Given the description of an element on the screen output the (x, y) to click on. 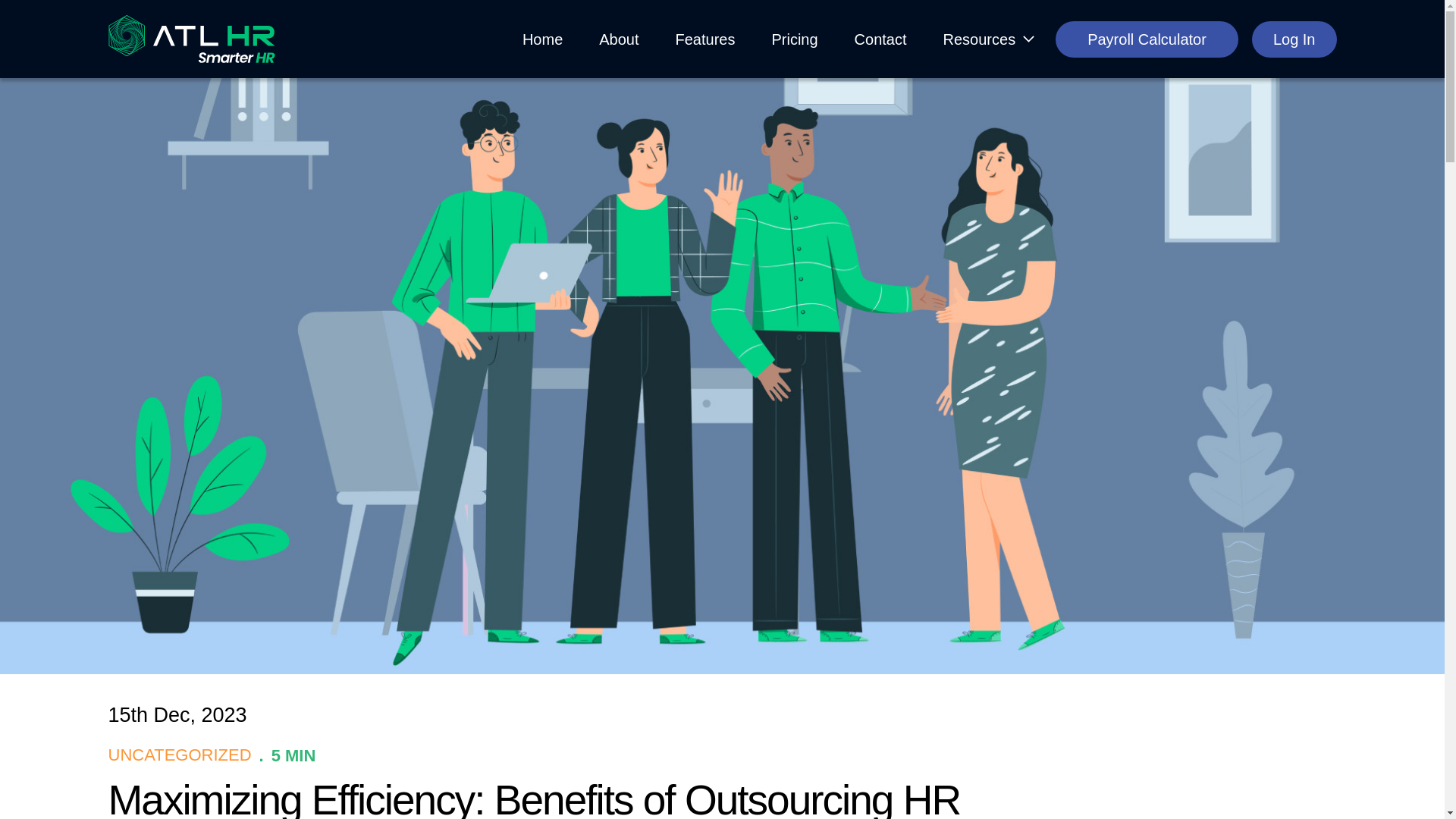
Log In (1294, 39)
Contact (880, 38)
About (618, 38)
Resources (979, 38)
Features (704, 38)
Pricing (794, 38)
Payroll Calculator (1147, 39)
Home (542, 38)
